Given the description of an element on the screen output the (x, y) to click on. 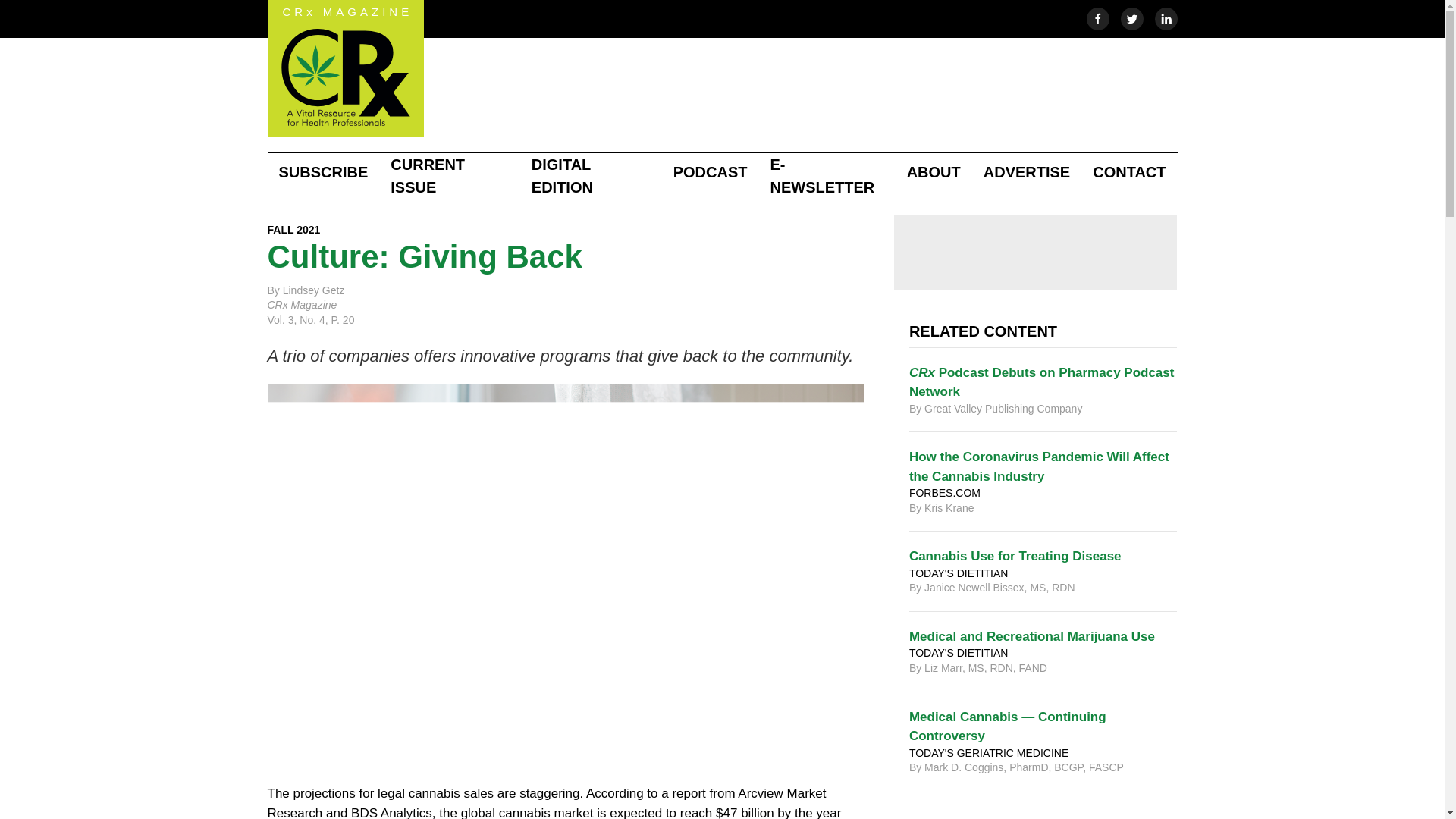
ADVERTISE (1026, 171)
CURRENT ISSUE (448, 176)
ABOUT (933, 171)
PODCAST (710, 171)
DIGITAL EDITION (590, 176)
SUBSCRIBE (322, 171)
E-NEWSLETTER (826, 176)
CONTACT (1128, 171)
